Given the description of an element on the screen output the (x, y) to click on. 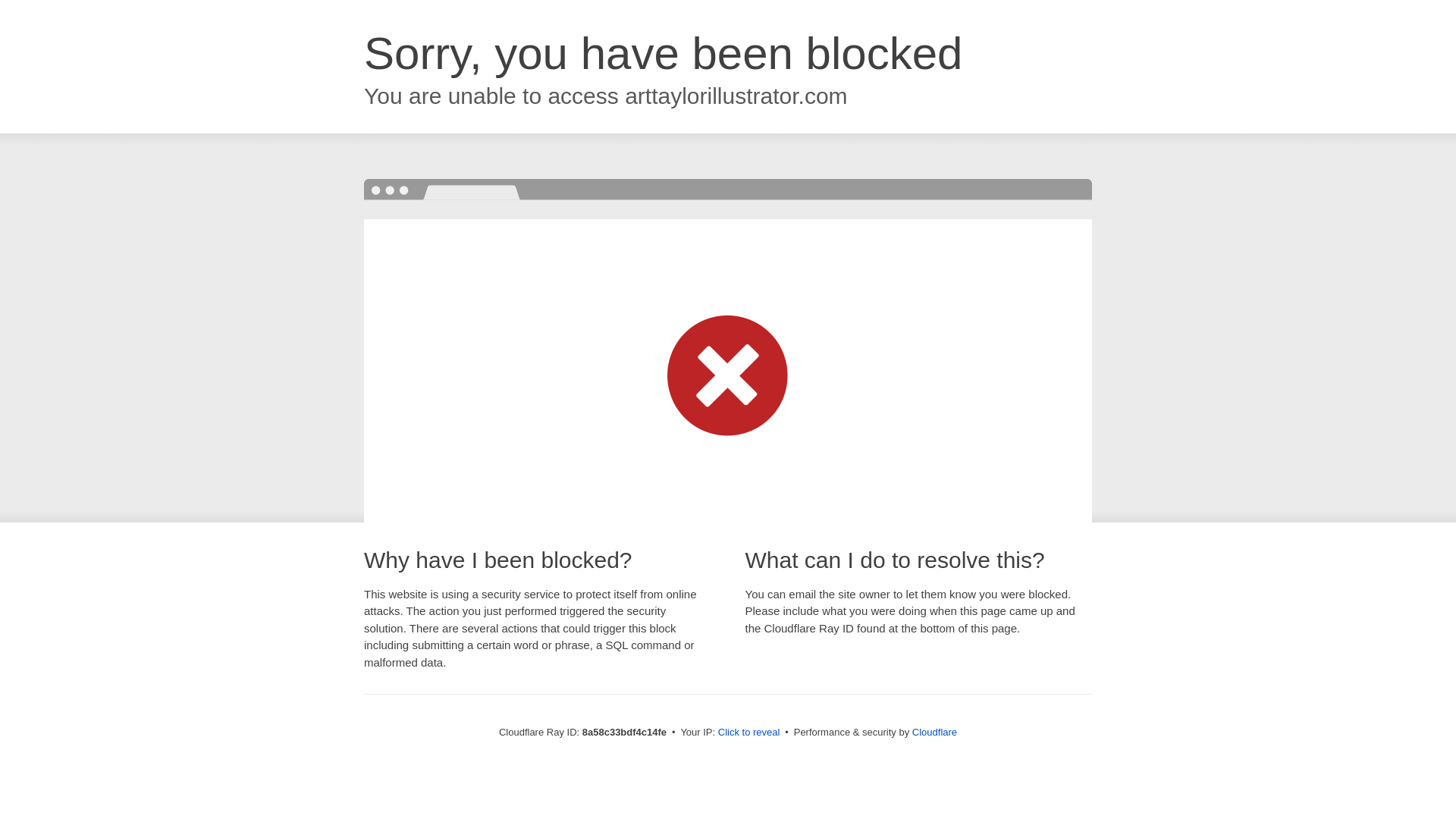
Click to reveal (748, 732)
Cloudflare (934, 731)
